Given the description of an element on the screen output the (x, y) to click on. 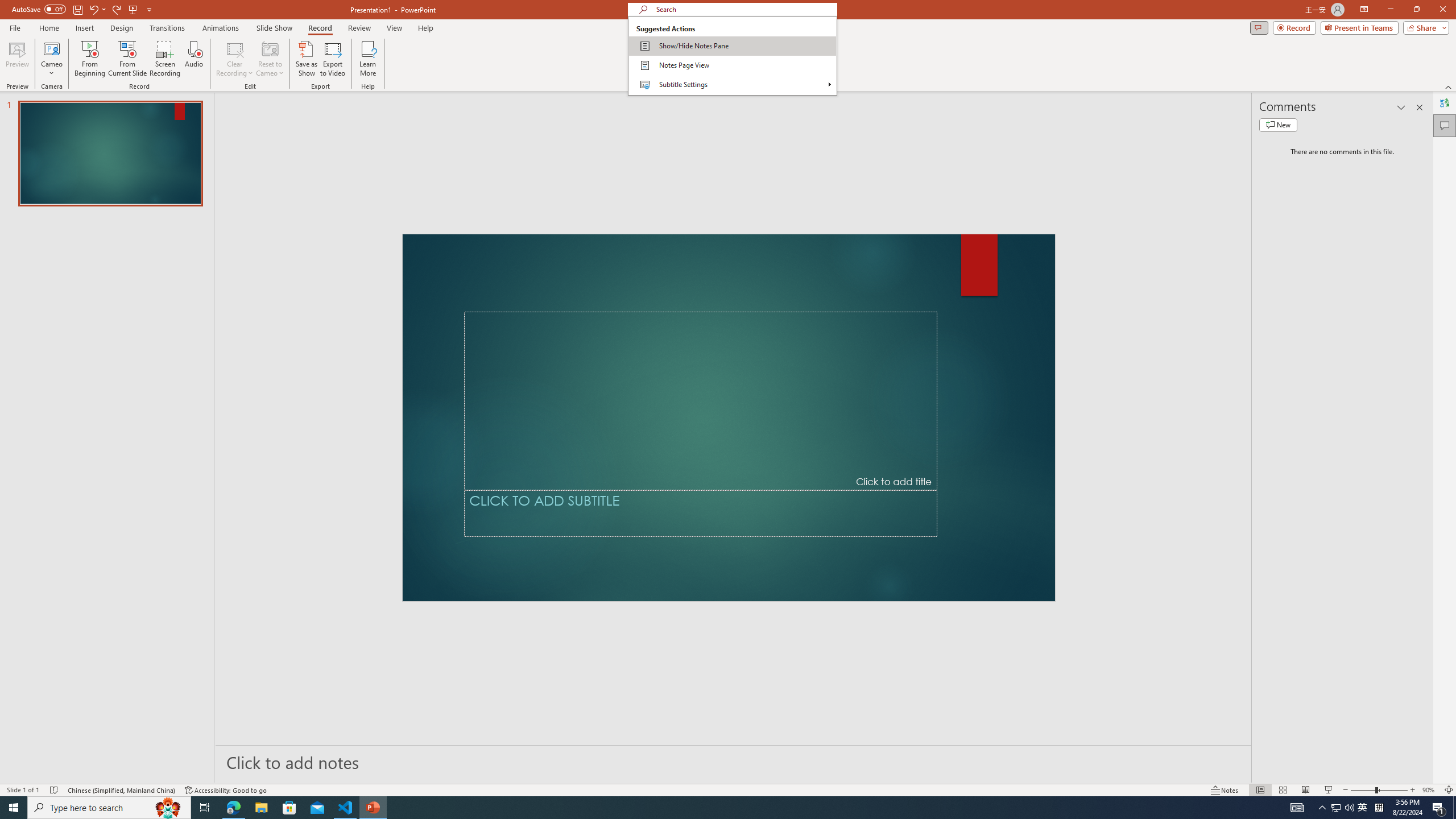
Class: NetUITWMenuContainer (731, 56)
